Given the description of an element on the screen output the (x, y) to click on. 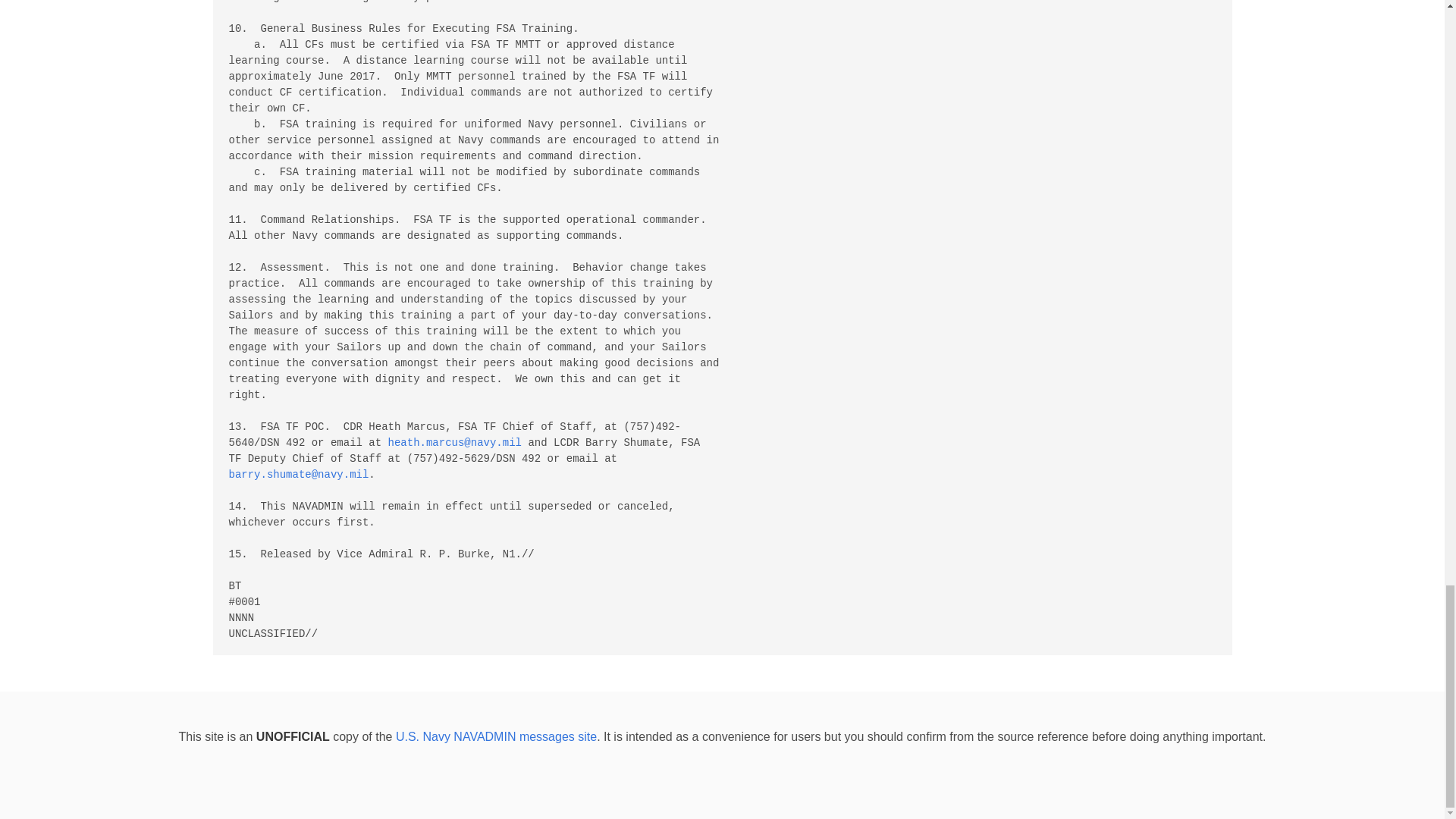
U.S. Navy NAVADMIN messages site (496, 736)
